Given the description of an element on the screen output the (x, y) to click on. 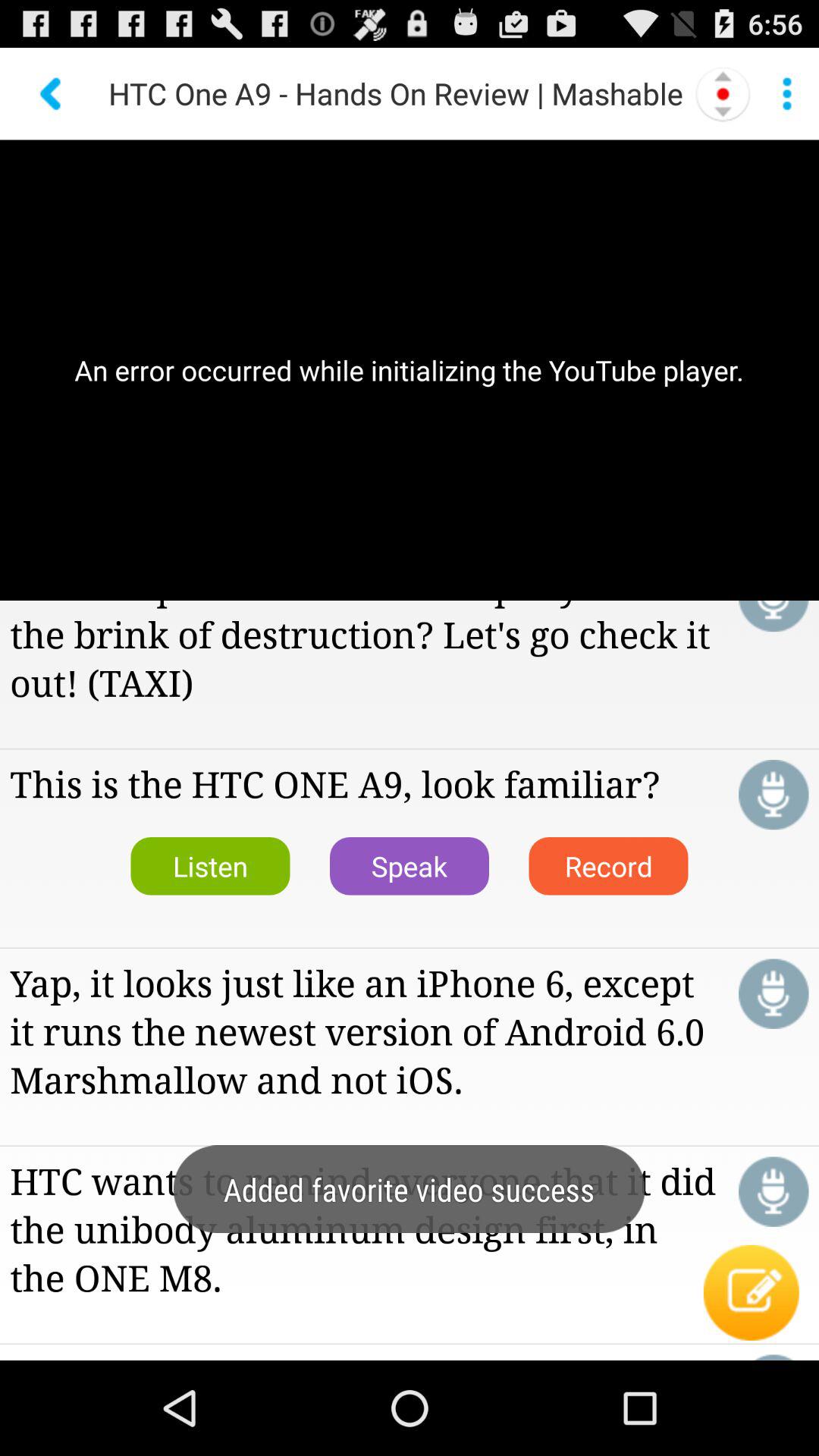
back button (52, 93)
